Given the description of an element on the screen output the (x, y) to click on. 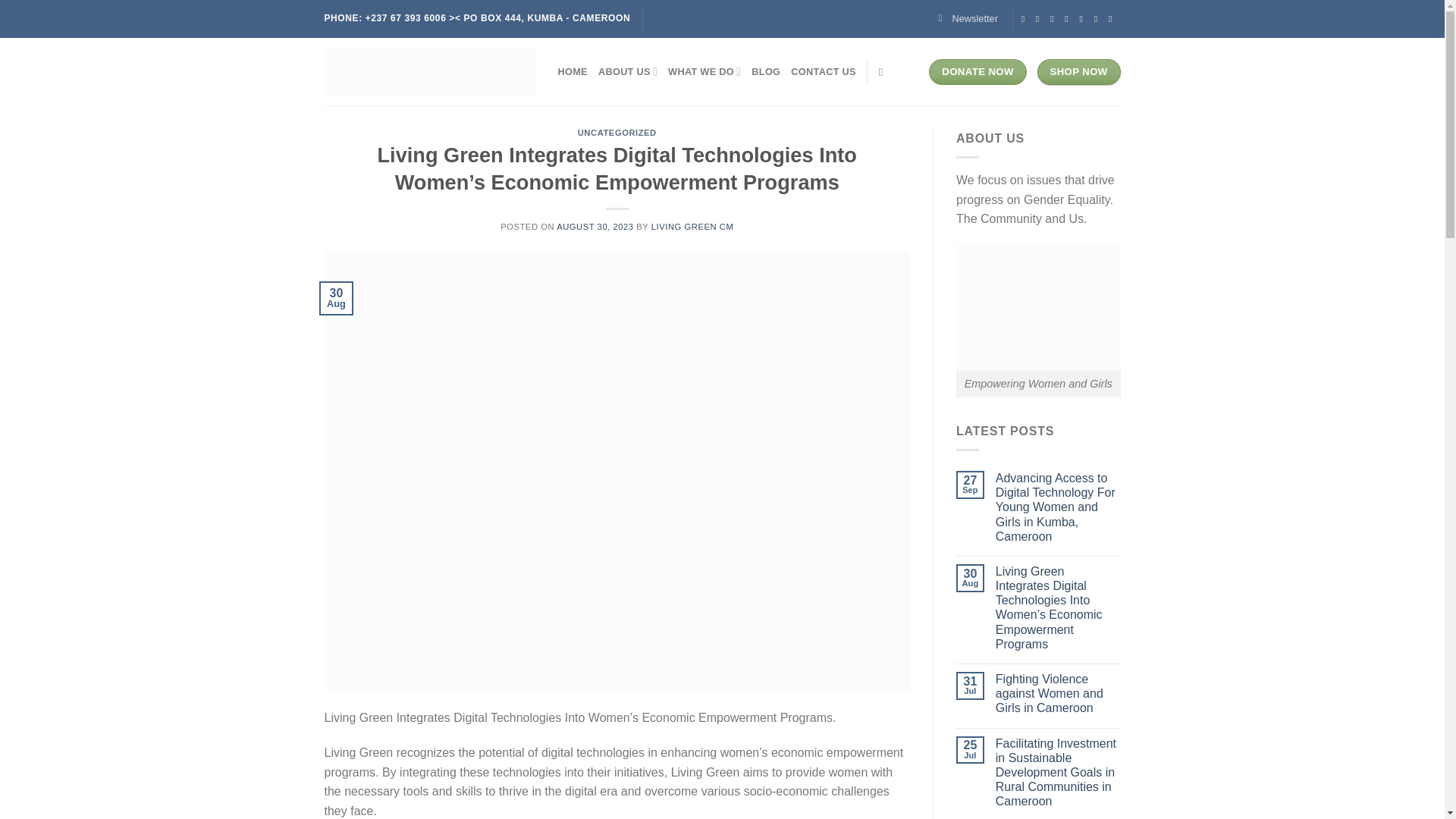
HOME (572, 71)
SHOP NOW (1078, 71)
WHAT WE DO (704, 71)
AUGUST 30, 2023 (594, 225)
Newsletter (968, 18)
DONATE NOW (977, 71)
LIVING GREEN CM (691, 225)
Living Green CM - The Community and Us (429, 71)
BLOG (765, 71)
ABOUT US (628, 71)
